Given the description of an element on the screen output the (x, y) to click on. 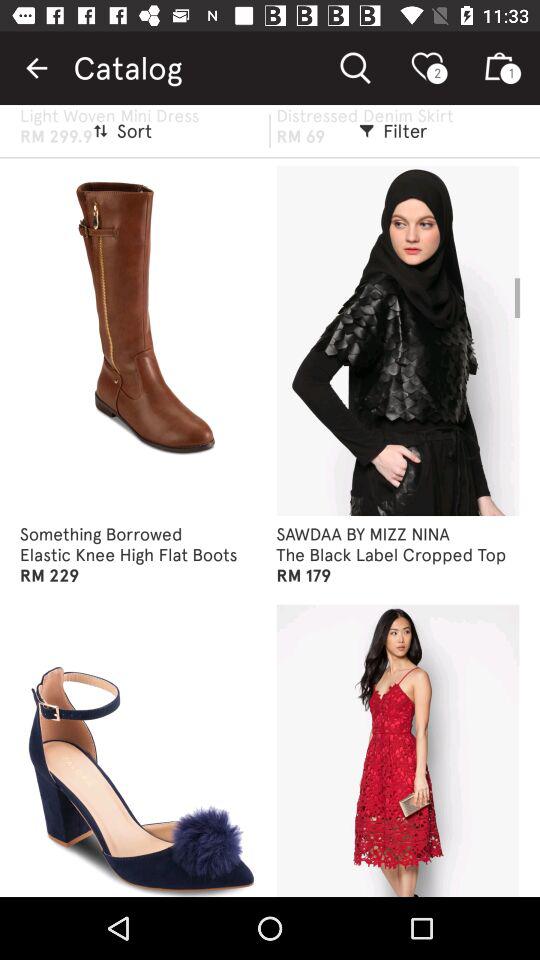
turn off the icon next to the catalog item (36, 68)
